Given the description of an element on the screen output the (x, y) to click on. 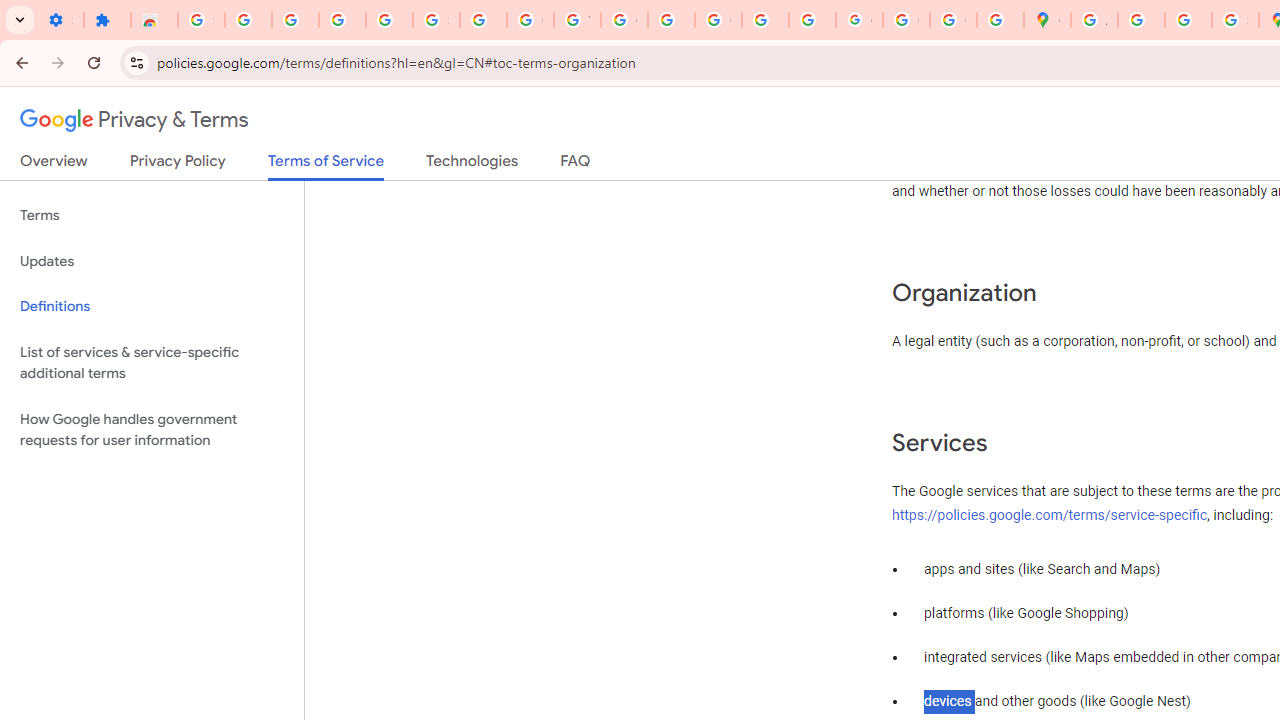
Google Account (530, 20)
https://policies.google.com/terms/service-specific (1050, 515)
Reviews: Helix Fruit Jump Arcade Game (153, 20)
Delete photos & videos - Computer - Google Photos Help (294, 20)
Safety in Our Products - Google Safety Center (1235, 20)
